Given the description of an element on the screen output the (x, y) to click on. 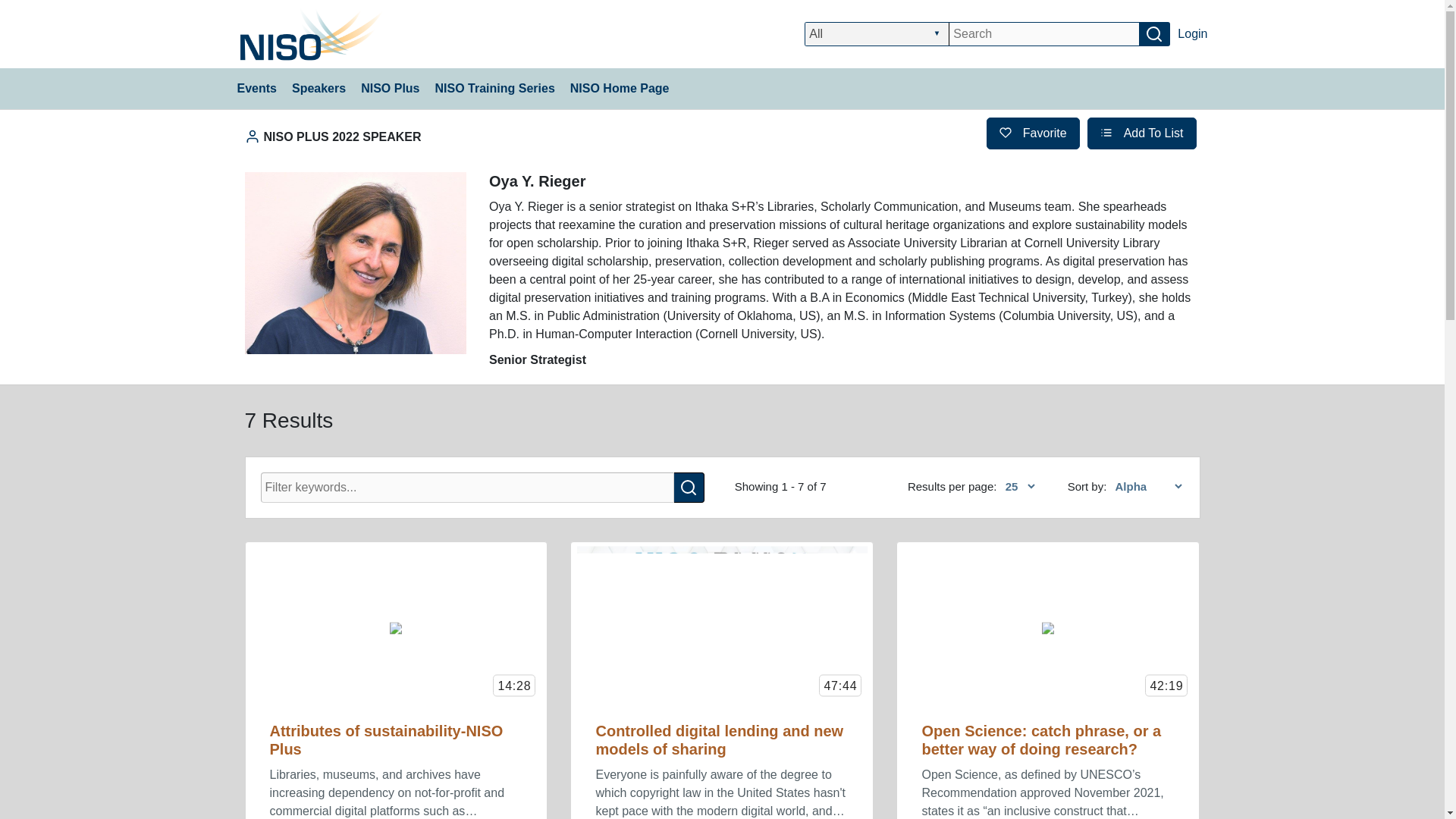
NISO Training Series (494, 88)
Add Favorite for NISO Plus 2022 Speaker (1033, 133)
NISO Plus (390, 88)
Controlled digital lending and new models of sharing (719, 739)
Events (255, 88)
Speakers (319, 88)
